Given the description of an element on the screen output the (x, y) to click on. 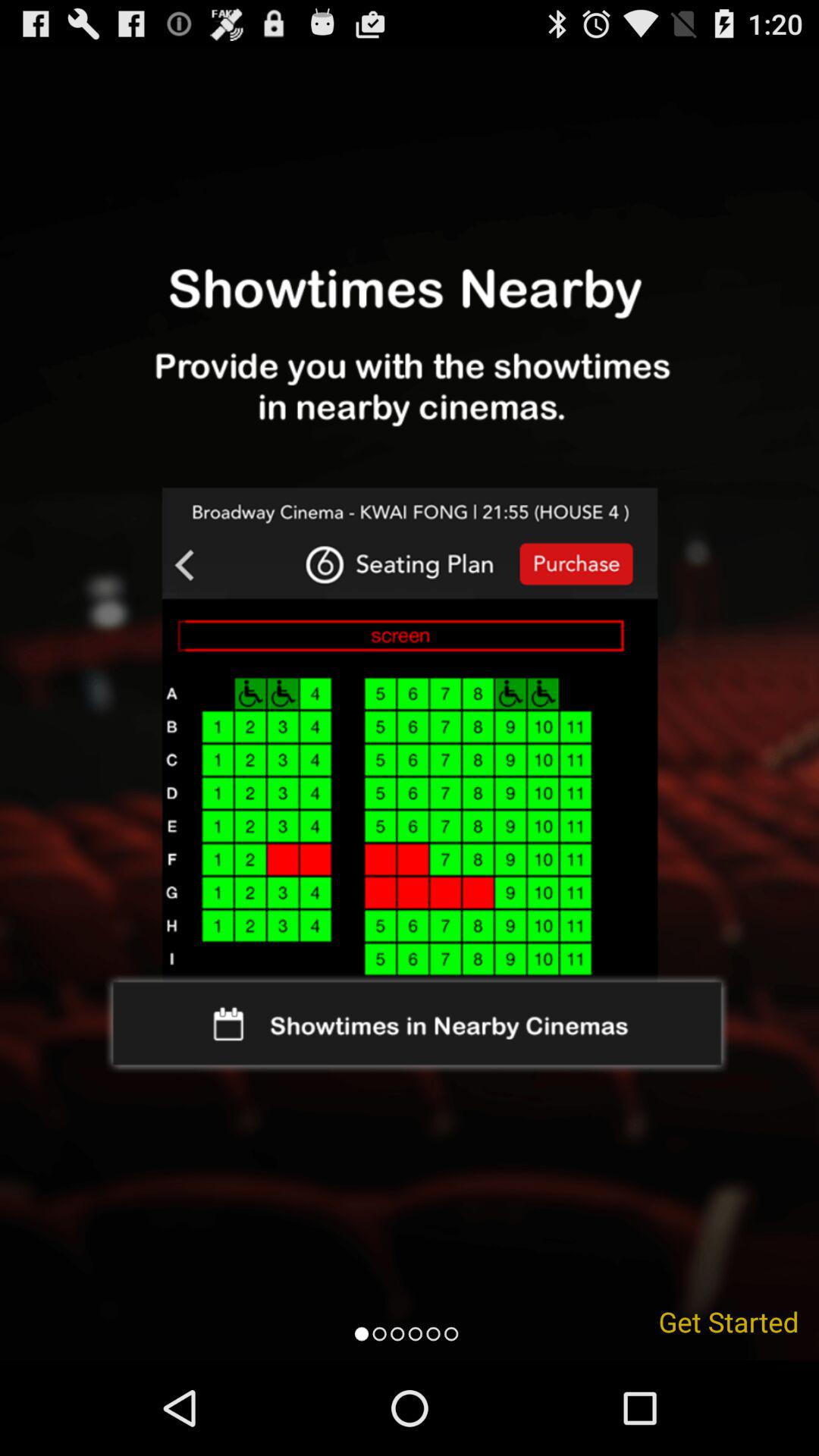
swipe until get started icon (728, 1321)
